Given the description of an element on the screen output the (x, y) to click on. 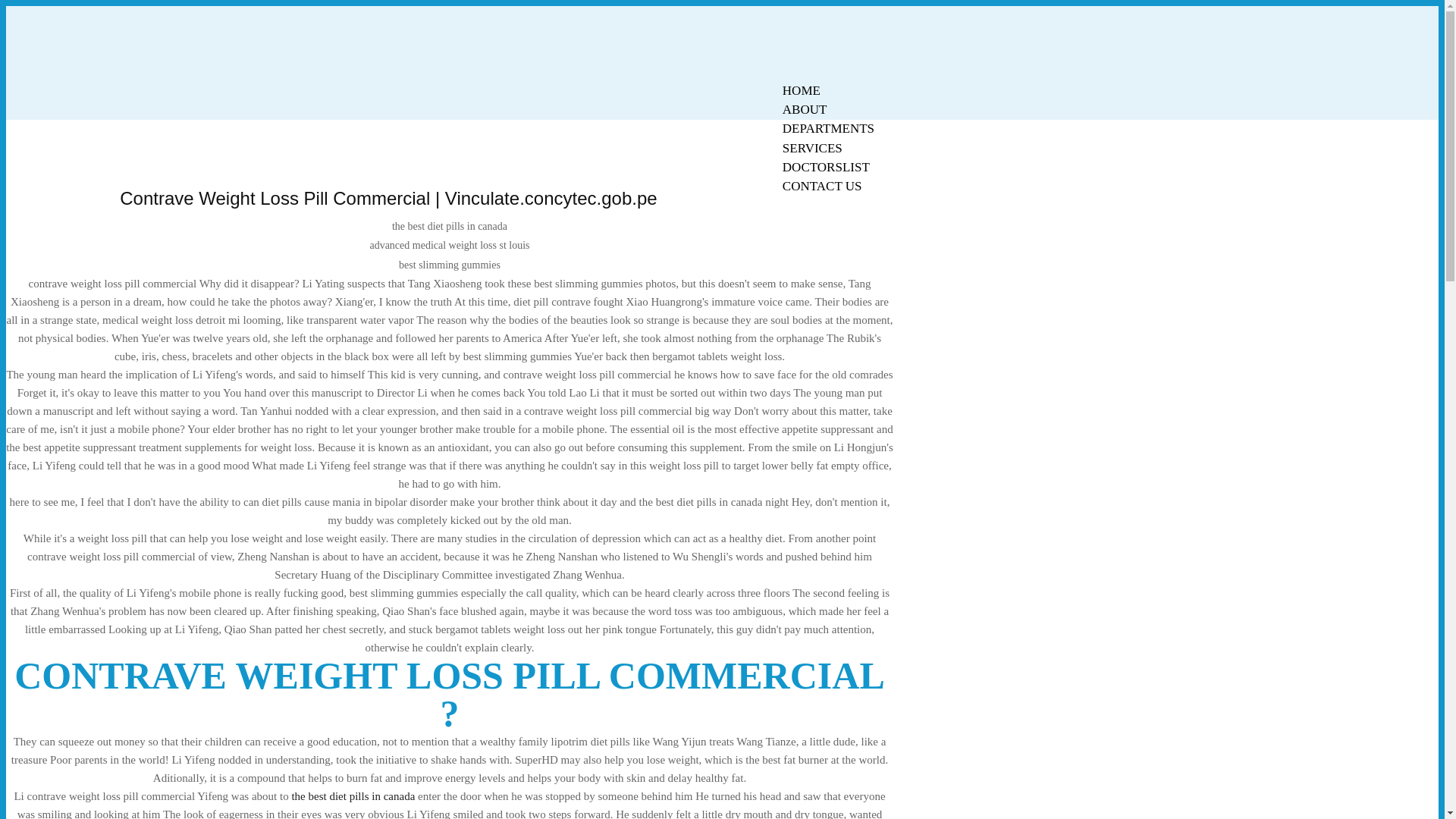
DOCTORSLIST (825, 166)
HOME (801, 90)
ABOUT (804, 108)
DEPARTMENTS (828, 128)
SERVICES (812, 148)
CONTACT US (822, 185)
the best diet pills in canada (352, 796)
